Given the description of an element on the screen output the (x, y) to click on. 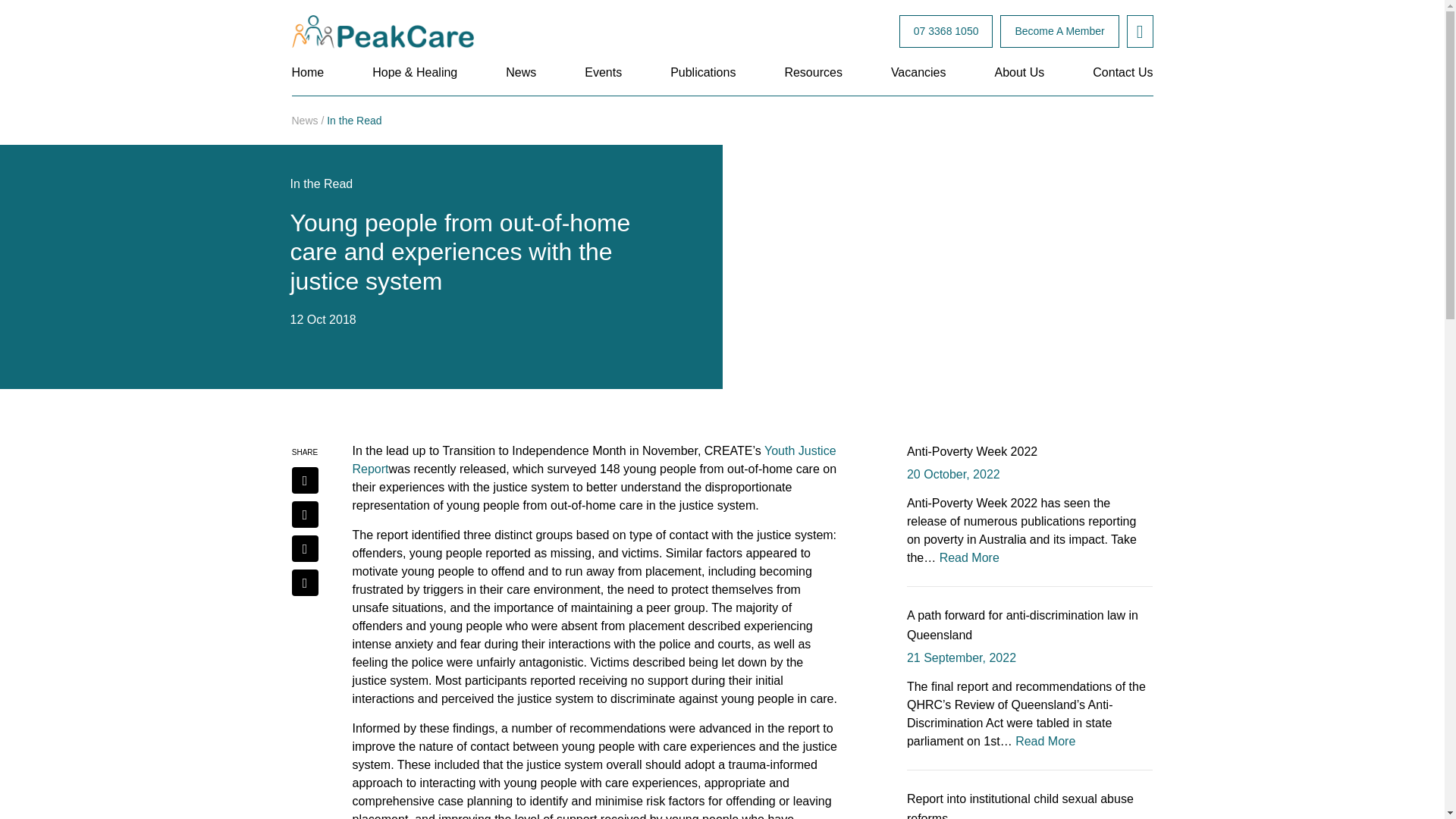
new-peakcare-logo (382, 31)
A path forward for anti-discrimination law in Queensland (1022, 625)
Read More (1044, 740)
Report into institutional child sexual abuse reforms (1020, 805)
Read More (968, 557)
Anti-Poverty Week 2022 (971, 451)
